Given the description of an element on the screen output the (x, y) to click on. 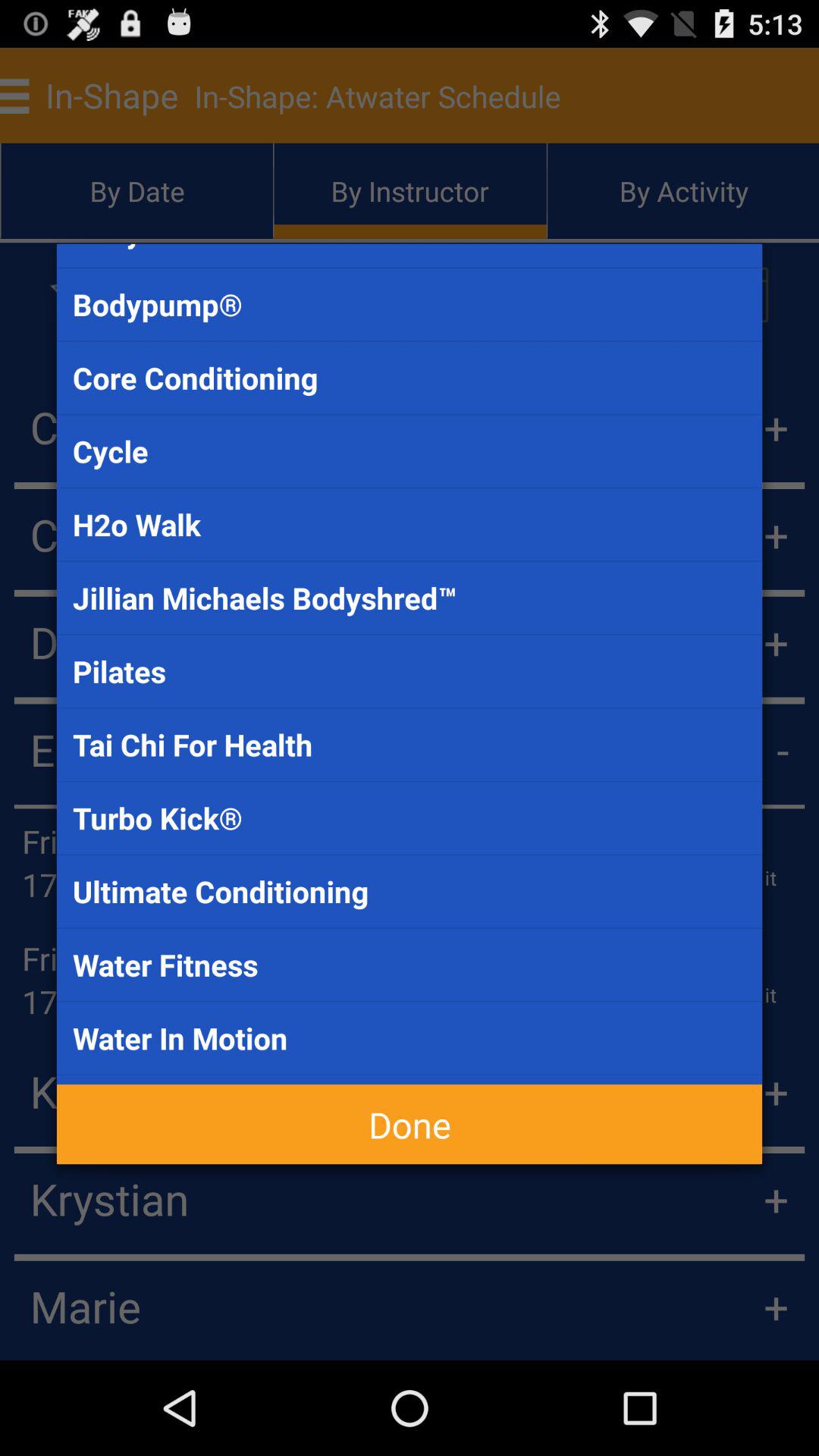
choose app above the pilates (409, 597)
